Given the description of an element on the screen output the (x, y) to click on. 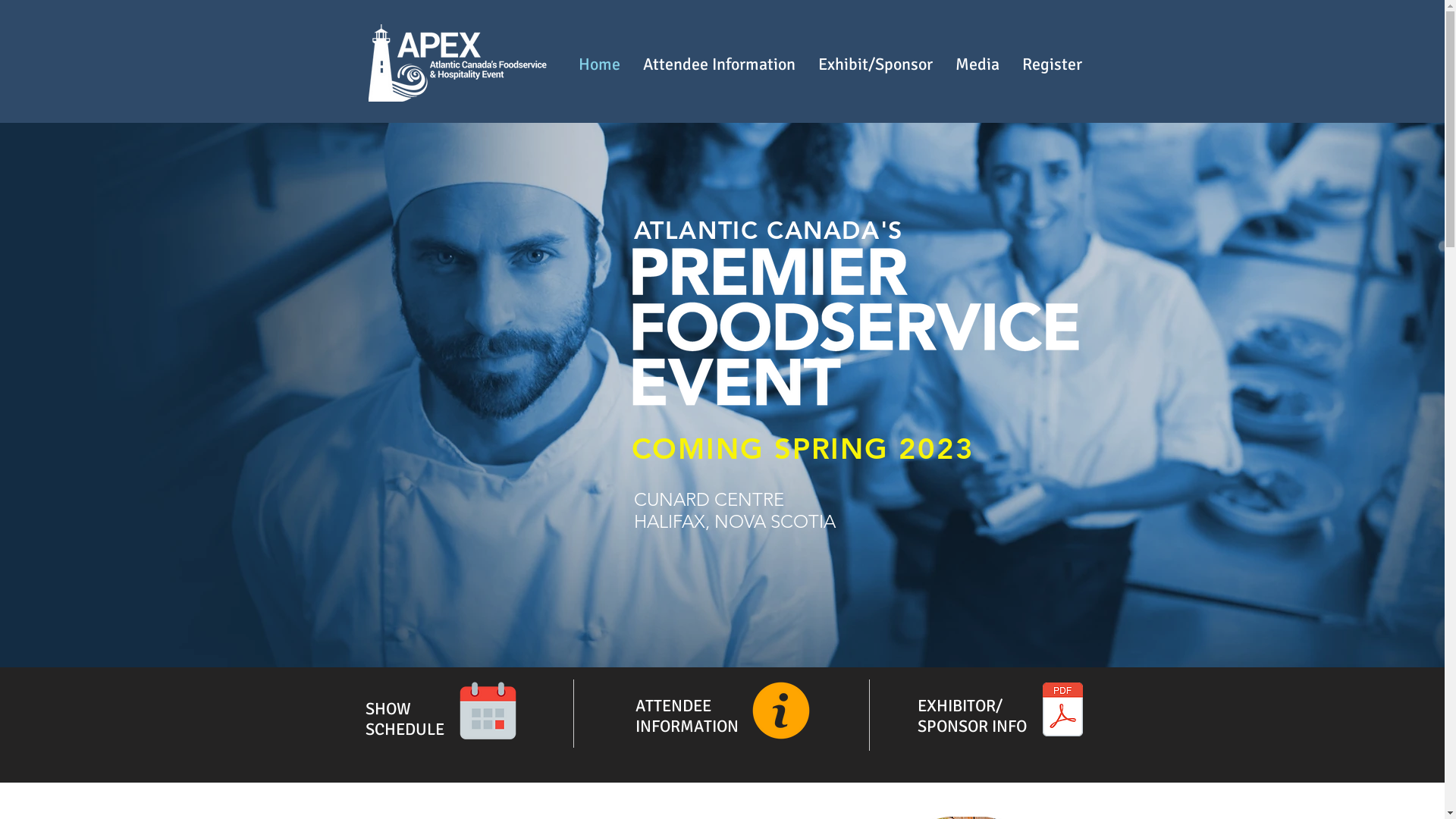
Schedule Icon Element type: hover (487, 710)
Attendee Information Element type: text (718, 64)
Media Element type: text (976, 64)
Register Element type: text (1051, 64)
Home Element type: text (599, 64)
Exhibit/Sponsor Element type: text (875, 64)
Information Icon Element type: hover (780, 710)
